Given the description of an element on the screen output the (x, y) to click on. 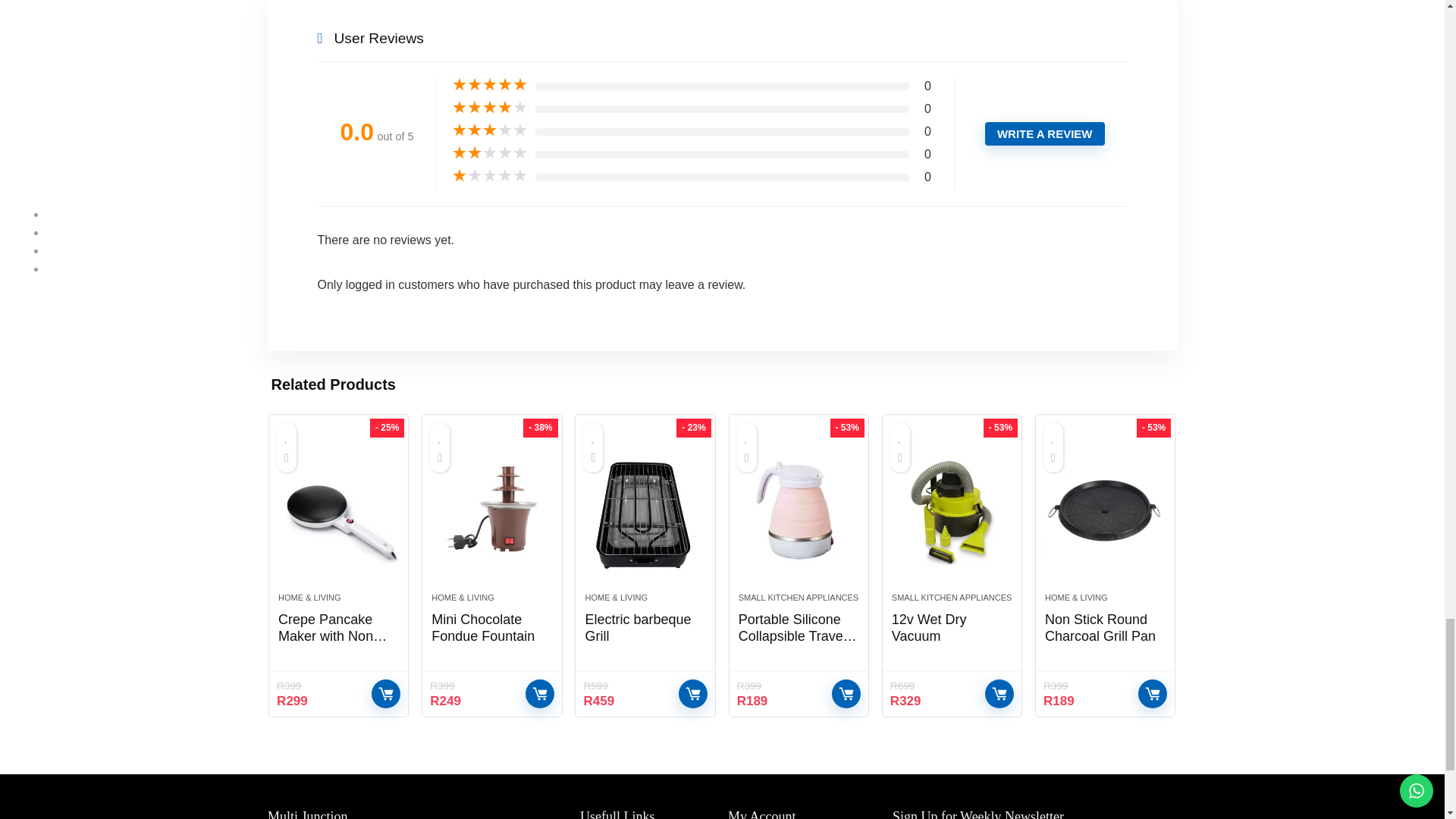
WRITE A REVIEW (1045, 133)
Electric barbeque Grill (644, 511)
Rated 5 out of 5 (489, 84)
Rated 1 out of 5 (489, 175)
Rated 4 out of 5 (489, 107)
Rated 2 out of 5 (489, 152)
Non Stick Round Charcoal Grill Pan (1105, 511)
Crepe Pancake Maker with Non Stick Surface (338, 511)
Portable Silicone Collapsible Travel Electric Kettle Pink (798, 511)
12v Wet Dry Vacuum (951, 511)
Rated 3 out of 5 (489, 130)
Crepe Pancake Maker with Non Stick Surface (332, 635)
ADD TO CART (385, 693)
Mini Chocolate Fondue Fountain (490, 511)
